Given the description of an element on the screen output the (x, y) to click on. 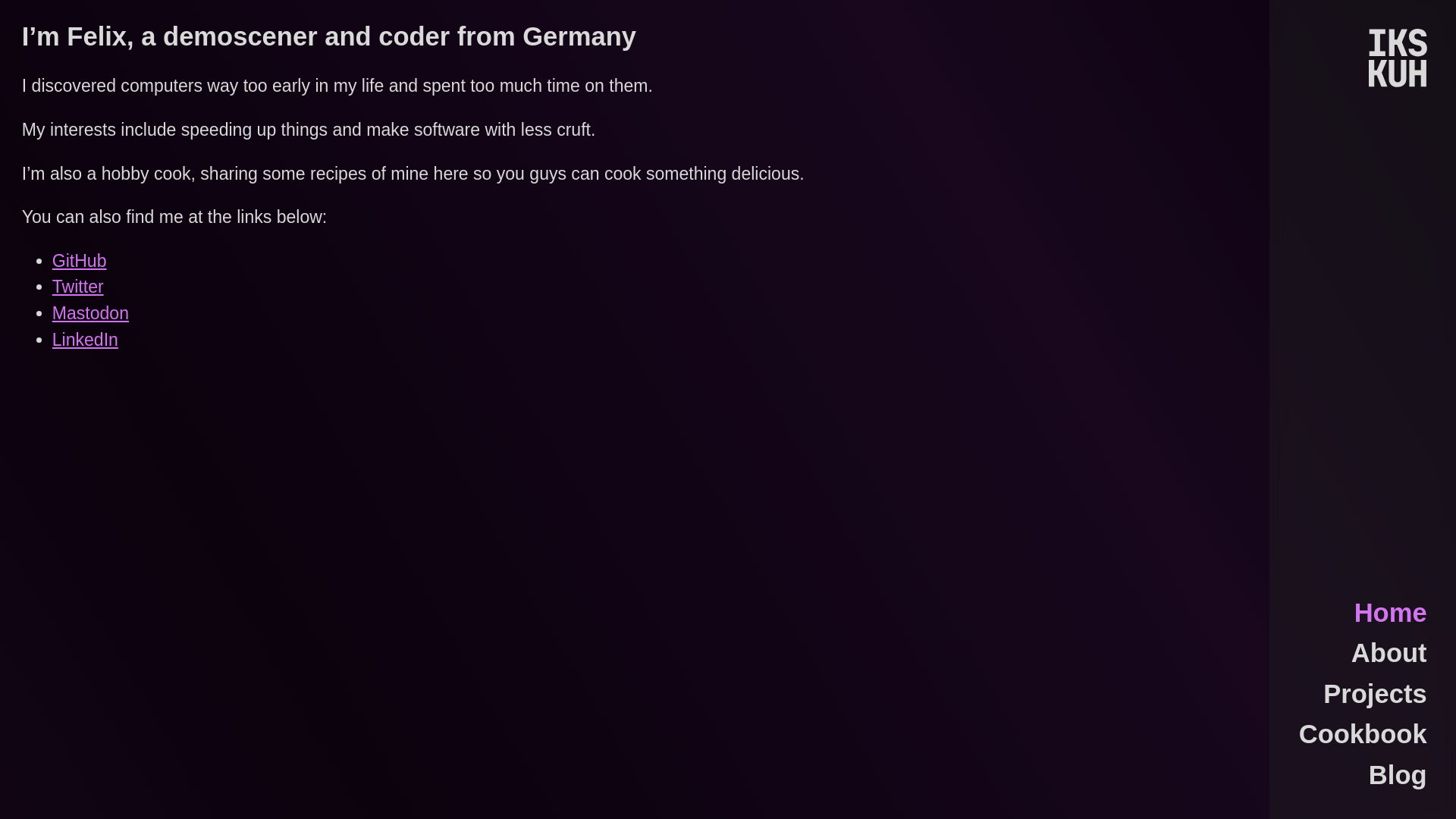
GitHub (79, 260)
LinkedIn (84, 339)
Home (1390, 613)
Mastodon (90, 312)
Projects (1374, 694)
Cookbook (1362, 734)
About (1388, 653)
Blog (1397, 775)
Twitter (77, 286)
